Given the description of an element on the screen output the (x, y) to click on. 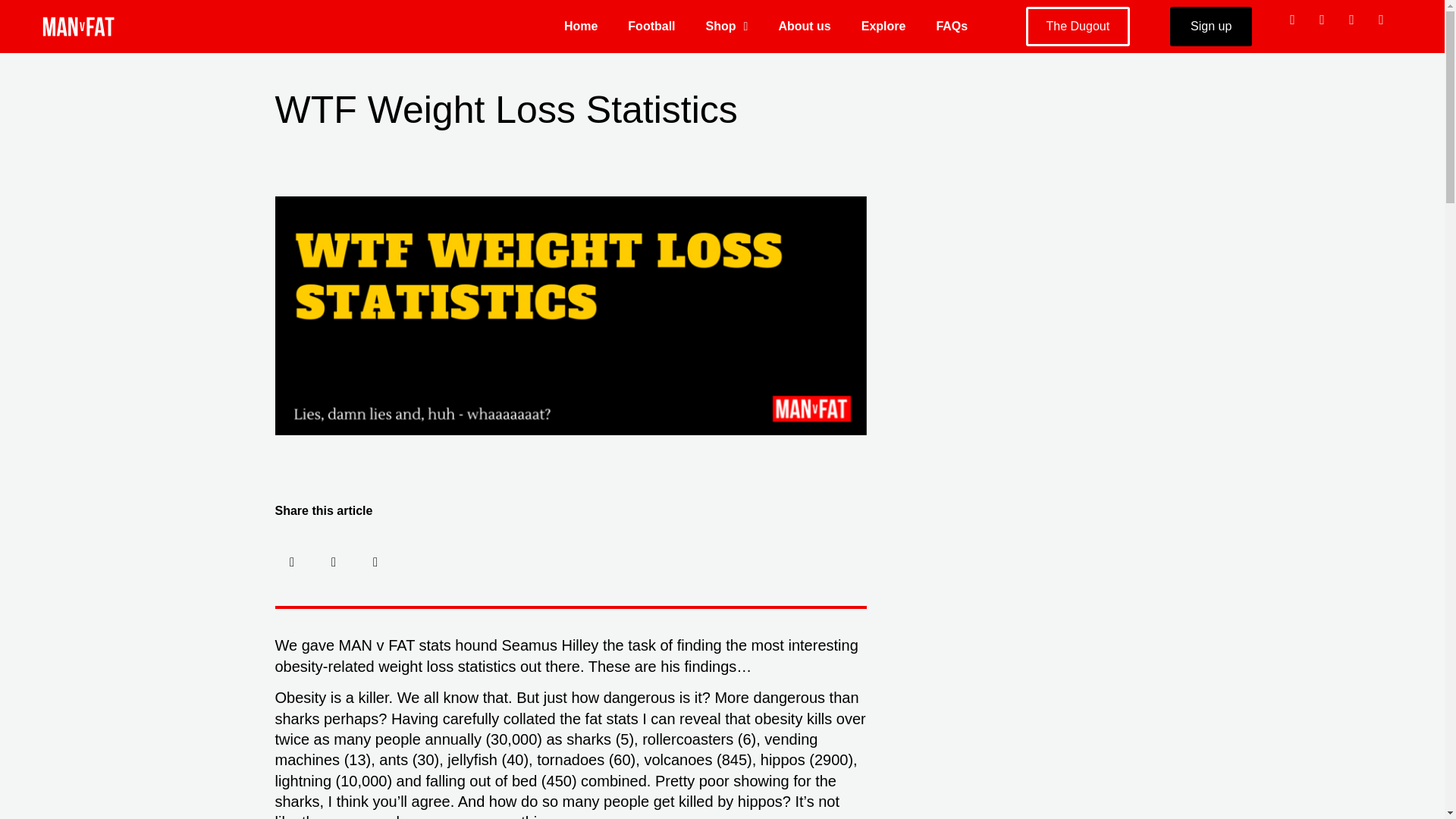
Football (651, 26)
About us (803, 26)
The Dugout (1078, 25)
Home (580, 26)
Explore (883, 26)
Sign up (1211, 25)
FAQs (951, 26)
Shop (726, 26)
